Given the description of an element on the screen output the (x, y) to click on. 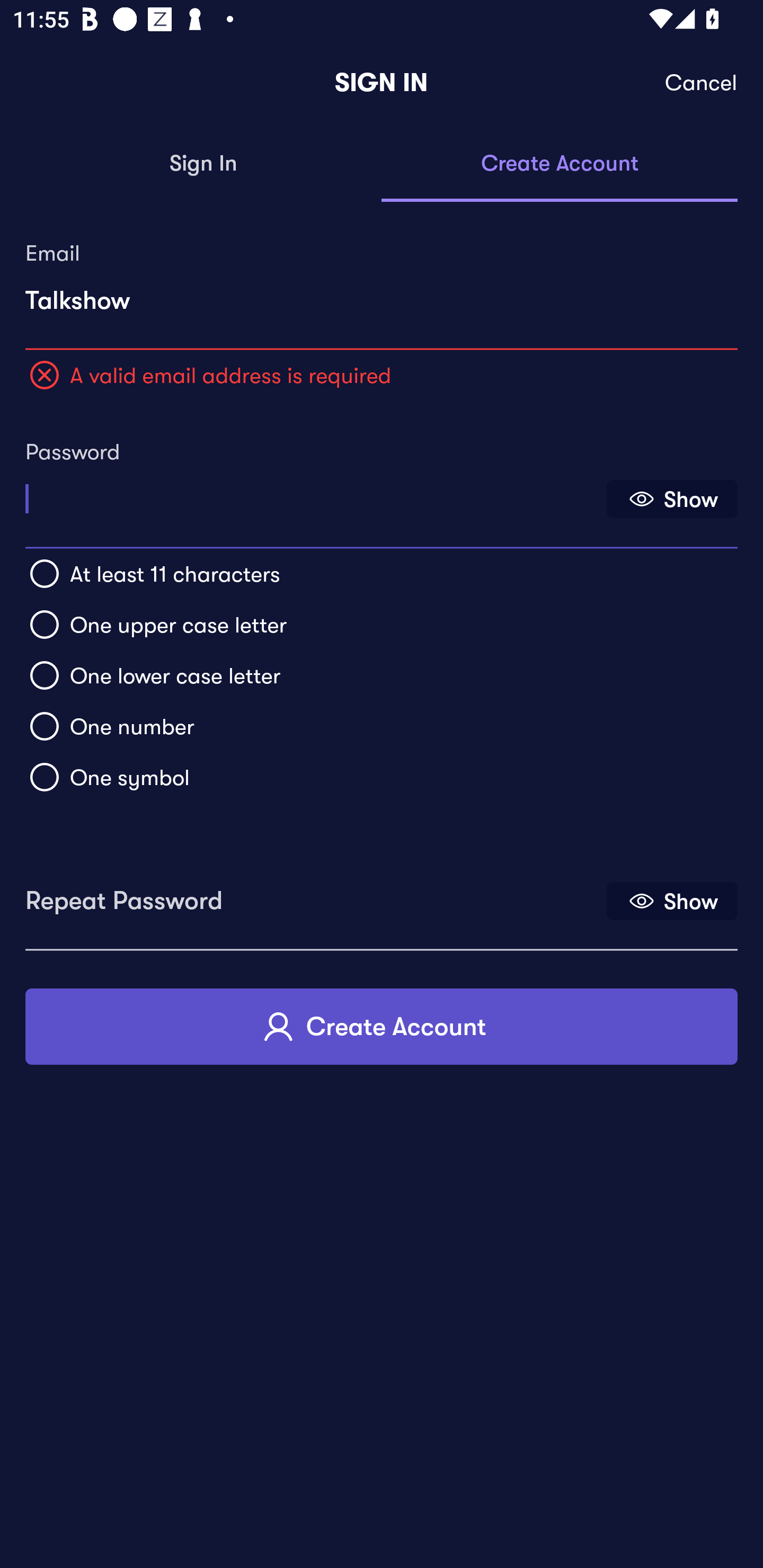
Cancel (701, 82)
Sign In (203, 164)
Create Account (559, 164)
Password (314, 493)
Show Password Show (671, 498)
Repeat Password (314, 894)
Show Repeat Password Show (671, 900)
Create Account (381, 1025)
